Given the description of an element on the screen output the (x, y) to click on. 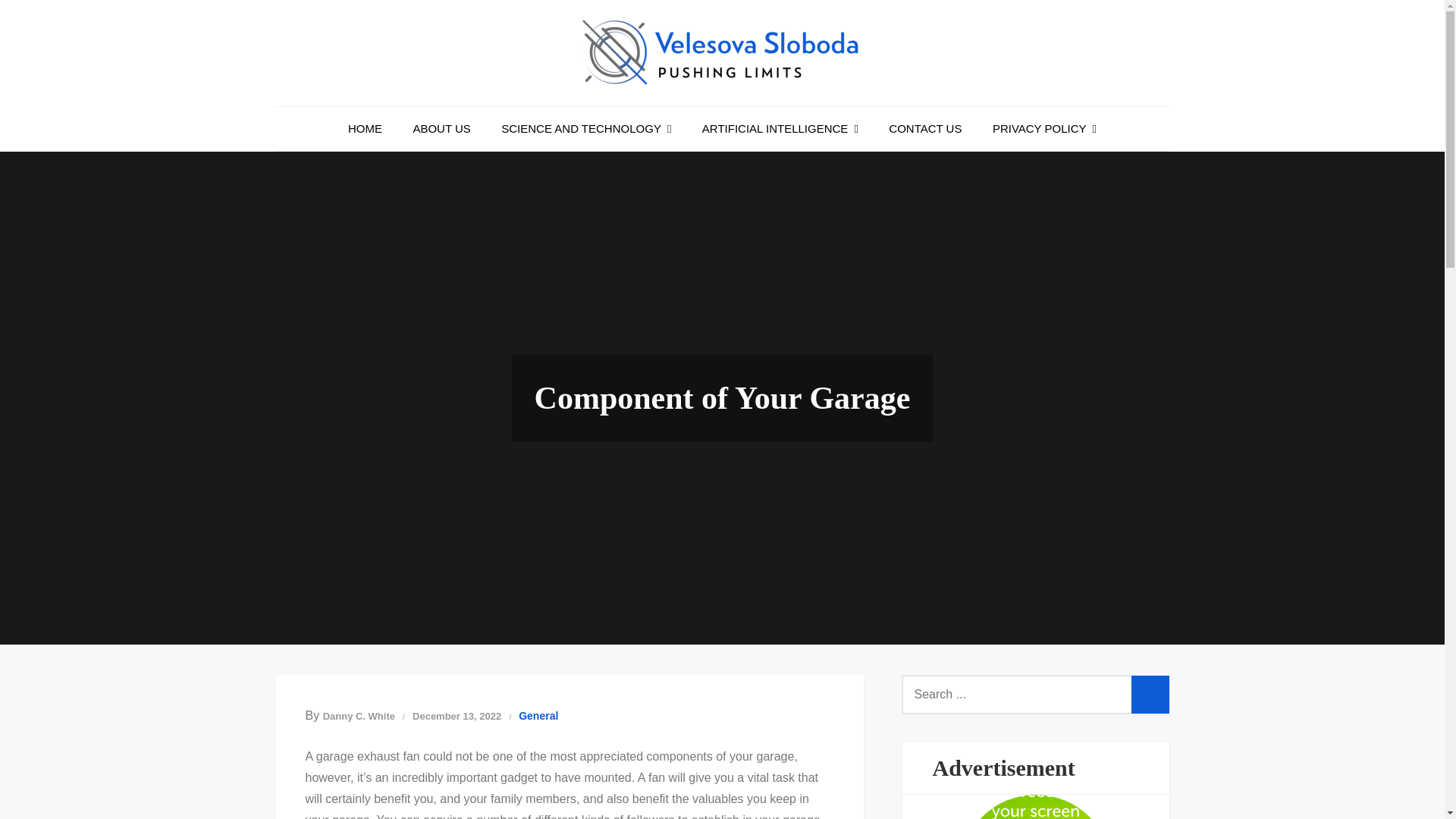
CONTACT US (925, 128)
Danny C. White (358, 715)
ARTIFICIAL INTELLIGENCE (780, 128)
General (537, 715)
Search for: (1035, 694)
SCIENCE AND TECHNOLOGY (585, 128)
Search (1150, 694)
HOME (365, 128)
December 13, 2022 (456, 715)
ABOUT US (440, 128)
PRIVACY POLICY (1043, 128)
